Given the description of an element on the screen output the (x, y) to click on. 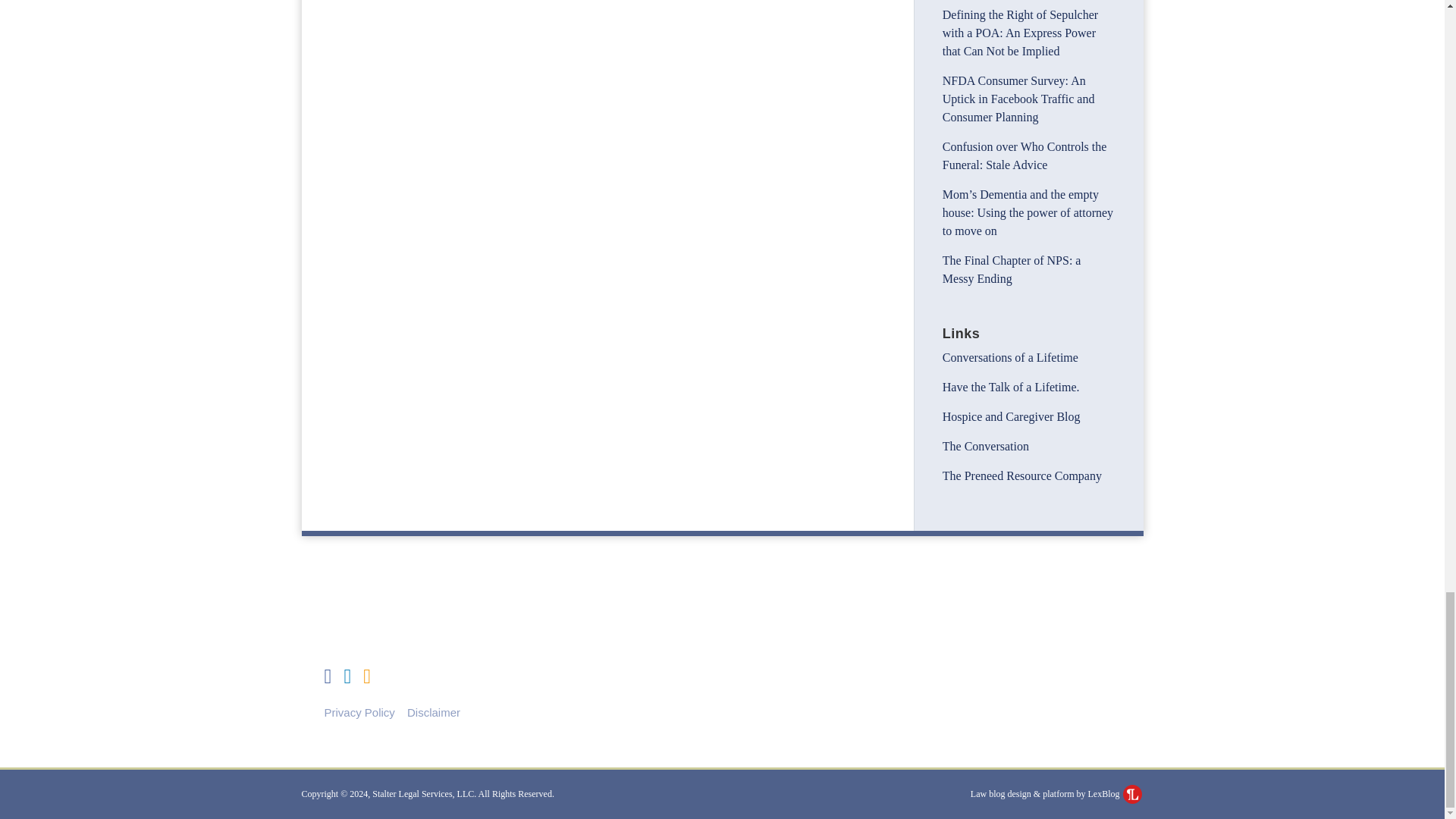
LexBlog Logo (1131, 793)
